Given the description of an element on the screen output the (x, y) to click on. 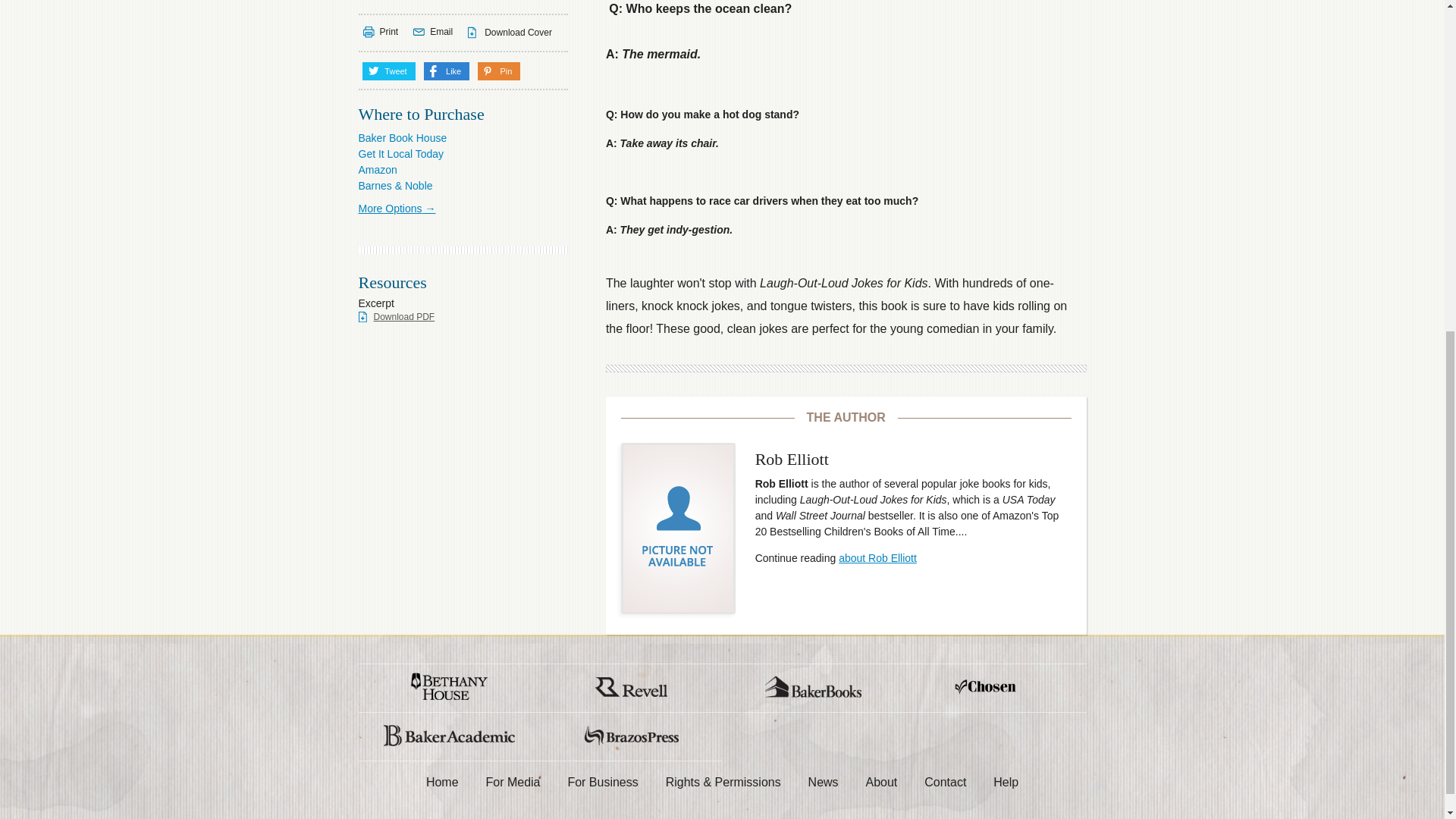
More Options (396, 208)
Brazos Press (631, 736)
Baker Books (813, 687)
Baker Book House (402, 137)
Download Cover (509, 32)
Baker Academic (449, 736)
Home (441, 782)
Revell (631, 687)
Like (446, 71)
Download PDF (395, 317)
Bethany House (449, 687)
about Rob Elliott (877, 558)
Get It Local Today (401, 153)
Pin (498, 71)
Amazon (377, 169)
